Given the description of an element on the screen output the (x, y) to click on. 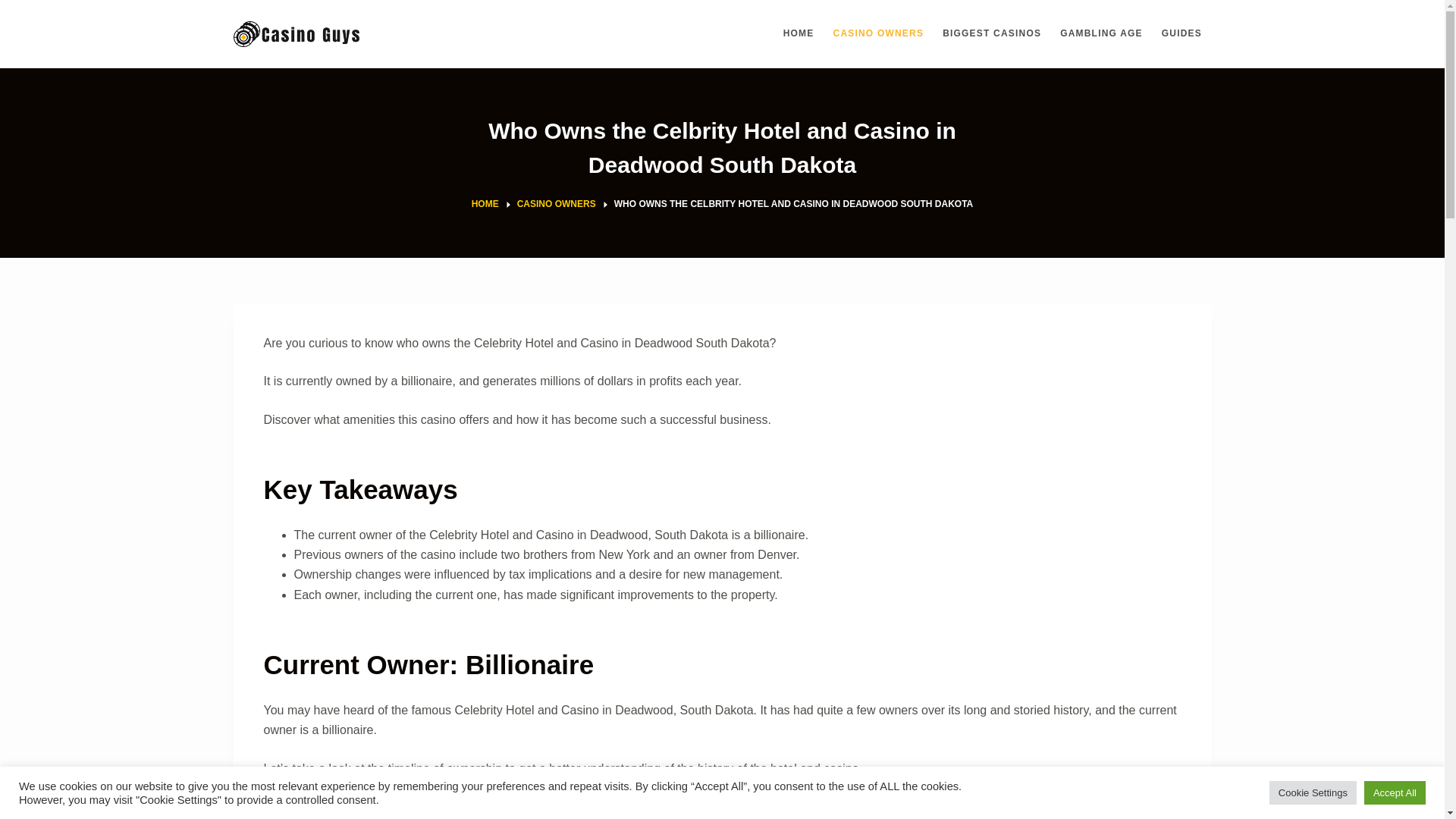
GAMBLING AGE (1102, 33)
CASINO OWNERS (555, 204)
BIGGEST CASINOS (992, 33)
HOME (485, 204)
Accept All (1394, 792)
Skip to content (15, 7)
CASINO OWNERS (878, 33)
Cookie Settings (1312, 792)
